Given the description of an element on the screen output the (x, y) to click on. 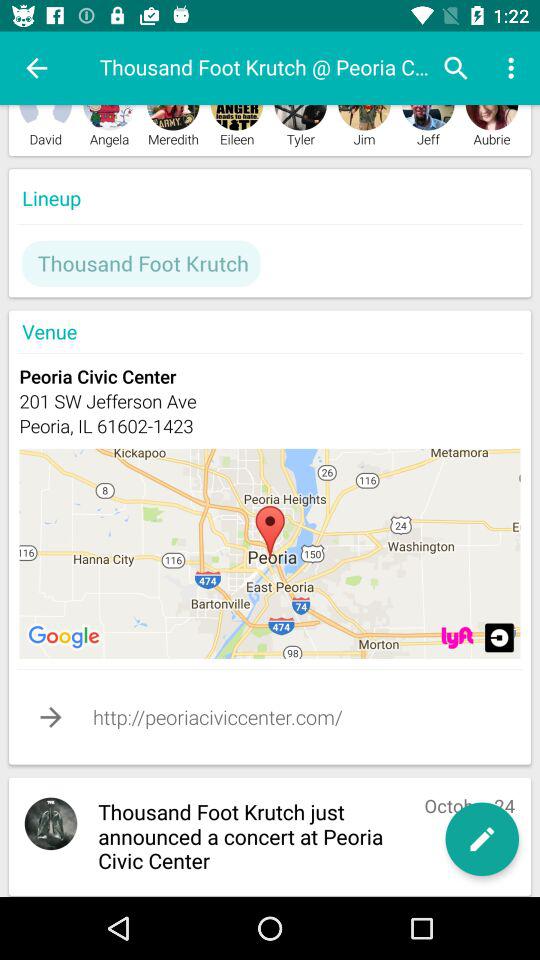
zoom to selected place (457, 637)
